Given the description of an element on the screen output the (x, y) to click on. 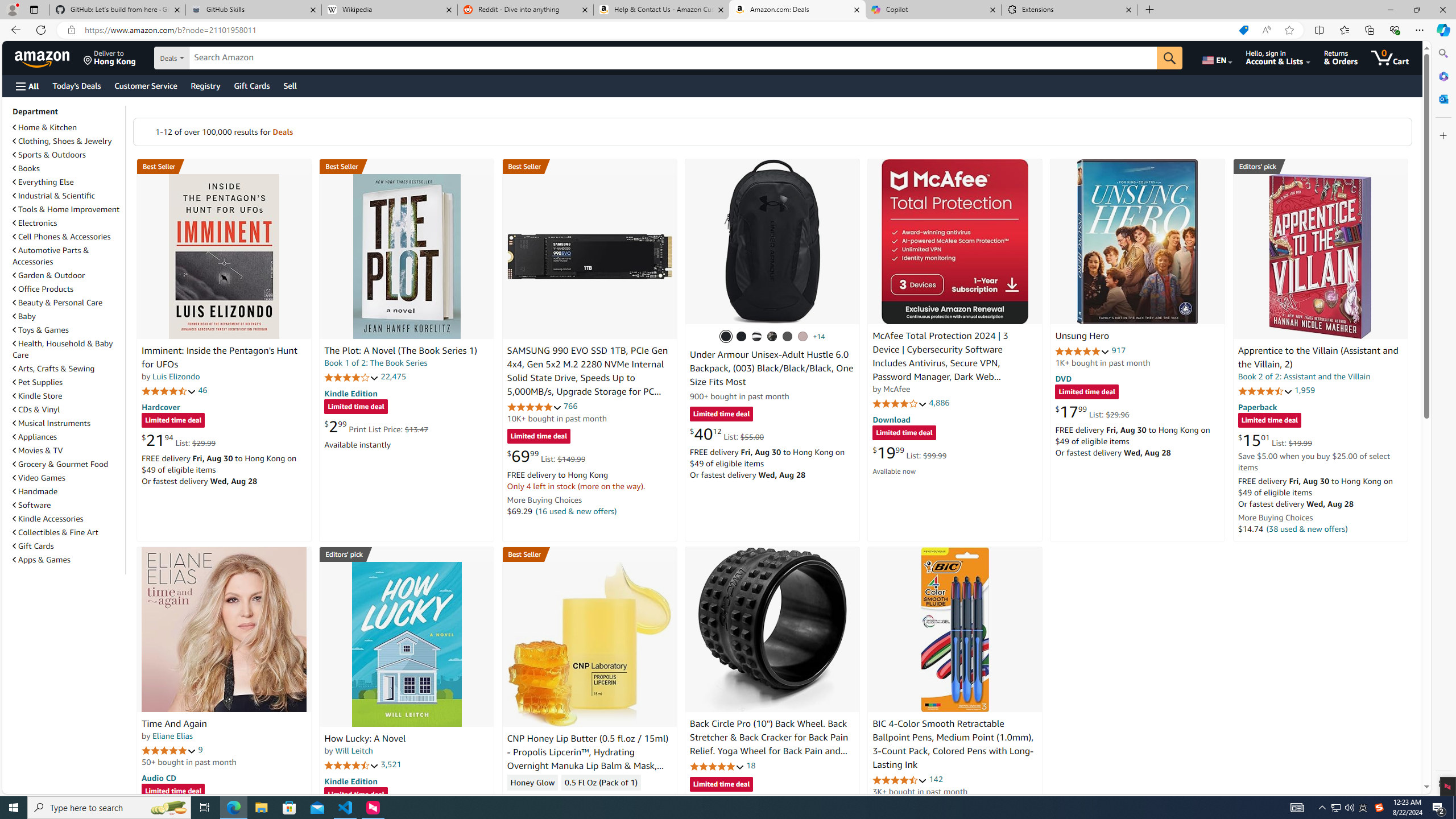
Skip to main content (48, 56)
Appliances (67, 436)
Baby (67, 315)
Luis Elizondo (175, 376)
Time And Again (173, 723)
Toys & Games (40, 329)
5.0 out of 5 stars (168, 750)
Book 1 of 2: The Book Series (376, 362)
Returns & Orders (1340, 57)
22,475 (393, 376)
